Given the description of an element on the screen output the (x, y) to click on. 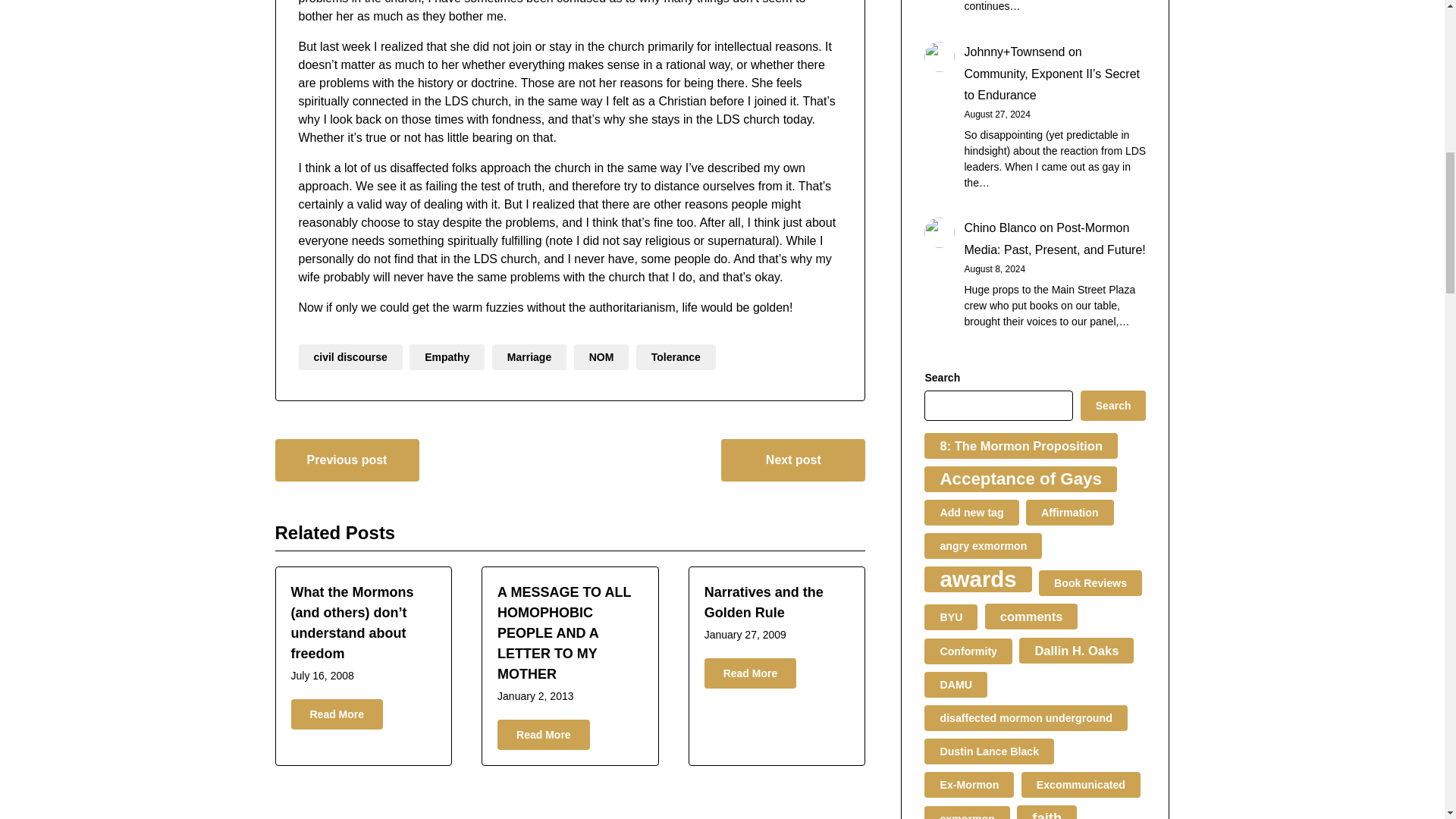
Empathy (446, 356)
Narratives and the Golden Rule (764, 601)
July 16, 2008 (322, 675)
January 2, 2013 (535, 695)
Read More (337, 714)
Next post (792, 459)
Read More (543, 734)
Marriage (529, 356)
Previous post (347, 459)
January 27, 2009 (745, 634)
